Given the description of an element on the screen output the (x, y) to click on. 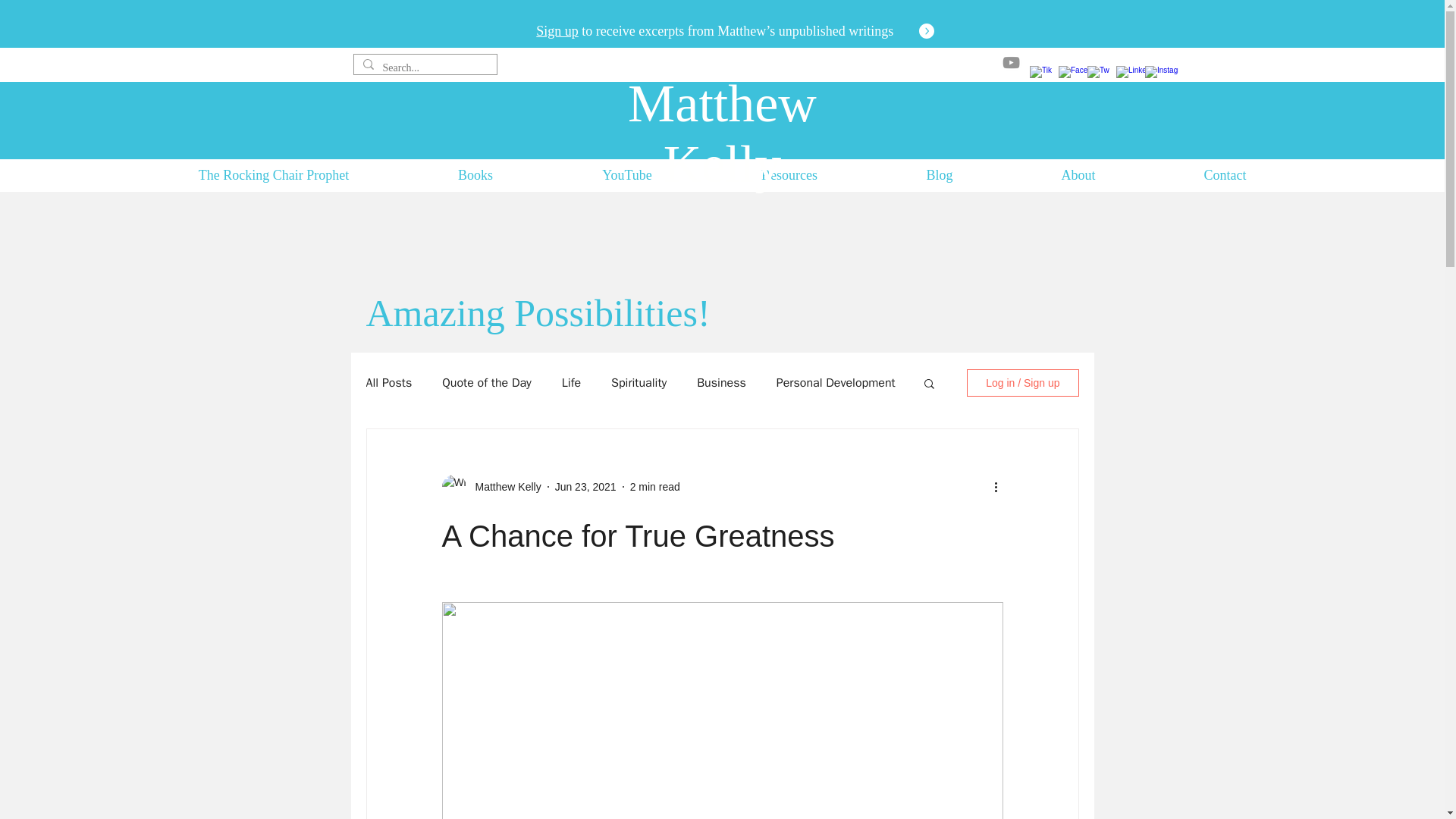
Resources (789, 171)
Matthew Kelly (502, 487)
Matthew Kelly (721, 133)
YouTube (626, 171)
2 min read (654, 486)
About (1078, 171)
All Posts (388, 382)
The Rocking Chair Prophet (273, 171)
Business (721, 382)
Sign up (556, 30)
Books (475, 171)
Blog (939, 171)
Life (571, 382)
Contact (1225, 171)
Jun 23, 2021 (584, 486)
